Given the description of an element on the screen output the (x, y) to click on. 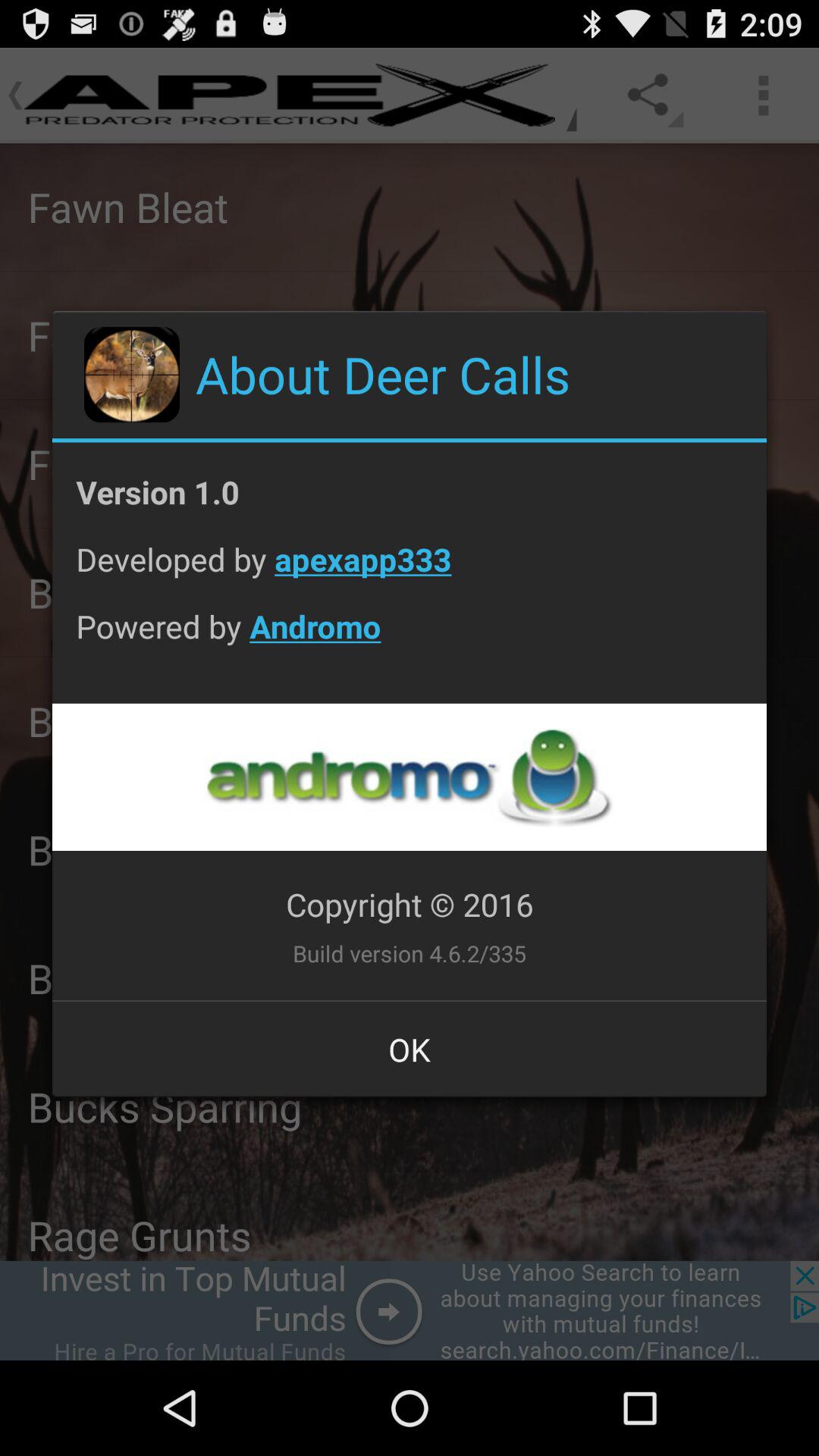
press the ok icon (409, 1049)
